Given the description of an element on the screen output the (x, y) to click on. 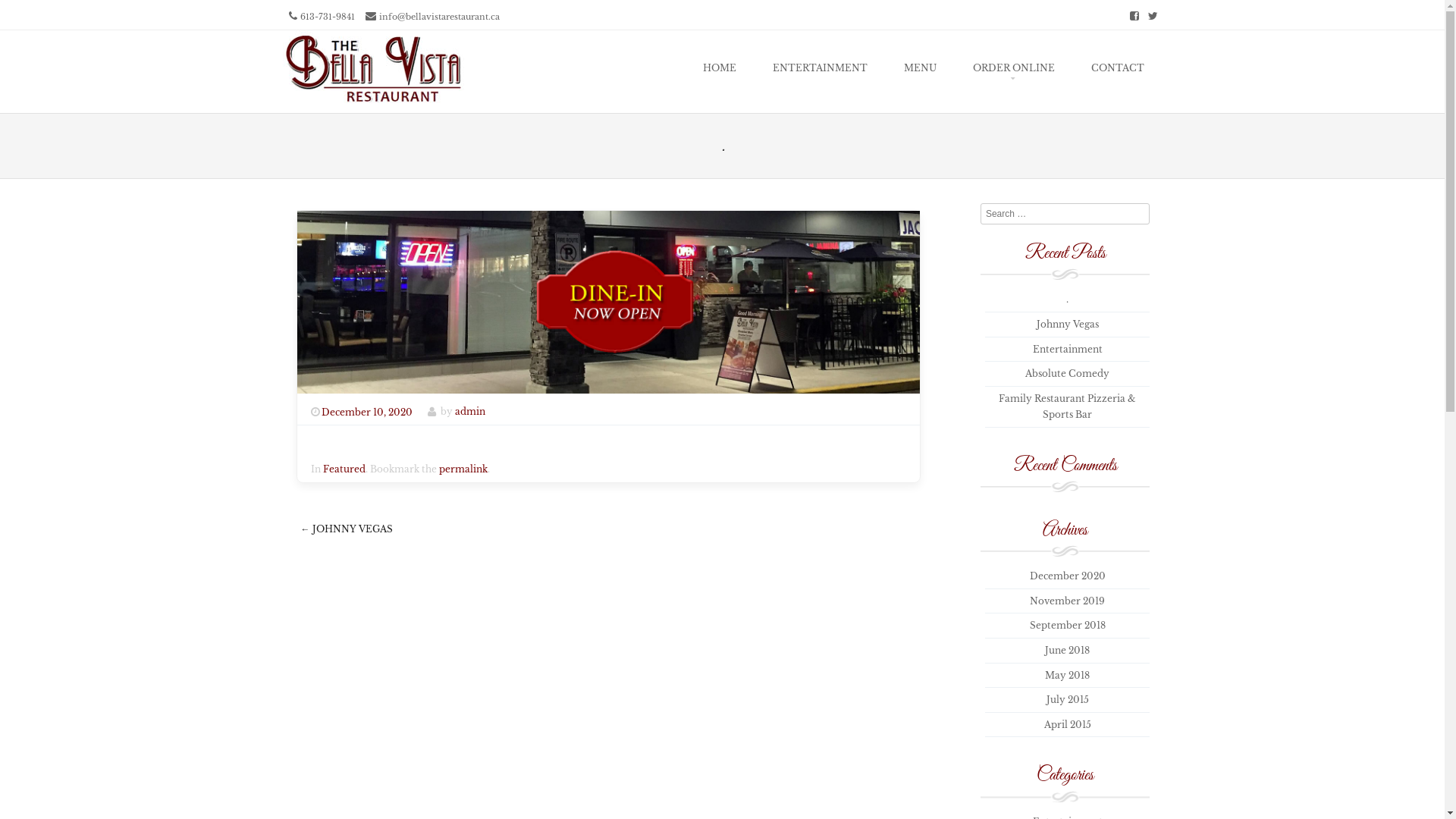
info@bellavistarestaurant.ca Element type: text (439, 16)
ORDER ONLINE Element type: text (1012, 68)
Family Restaurant Pizzeria & Sports Bar Element type: text (1066, 406)
Absolute Comedy Element type: text (1067, 373)
May 2018 Element type: text (1066, 674)
April 2015 Element type: text (1066, 724)
ENTERTAINMENT Element type: text (818, 68)
. Element type: text (1067, 298)
permalink Element type: text (462, 468)
HOME Element type: text (718, 68)
CONTACT Element type: text (1116, 68)
June 2018 Element type: text (1066, 649)
Search Element type: text (86, 14)
December 10, 2020 Element type: text (369, 411)
Featured Element type: text (344, 468)
Johnny Vegas Element type: text (1066, 323)
November 2019 Element type: text (1066, 600)
Entertainment Element type: text (1067, 348)
MENU Element type: text (919, 68)
July 2015 Element type: text (1067, 699)
December 2020 Element type: text (1067, 575)
SKIP TO CONTENT Element type: text (569, 68)
admin Element type: text (470, 411)
September 2018 Element type: text (1067, 624)
Bella Vista Restaurant Element type: hover (372, 102)
